Given the description of an element on the screen output the (x, y) to click on. 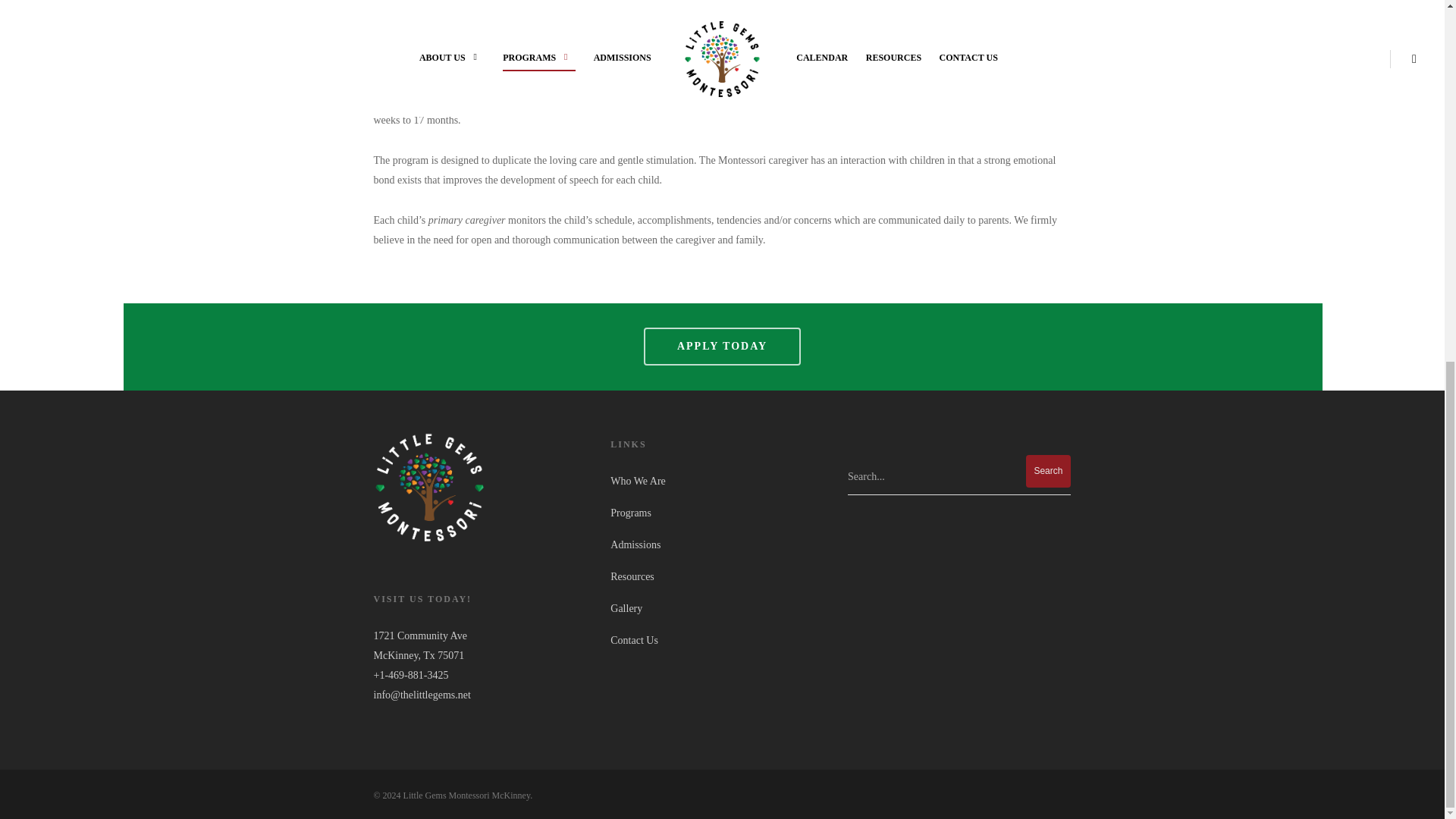
Search (1048, 471)
Search (1048, 471)
Programs (721, 513)
Resources (721, 576)
Contact Us (721, 640)
Admissions (721, 545)
Search for: (958, 476)
Search (1048, 471)
APPLY TODAY (721, 346)
Gallery (721, 608)
Who We Are (721, 484)
